Given the description of an element on the screen output the (x, y) to click on. 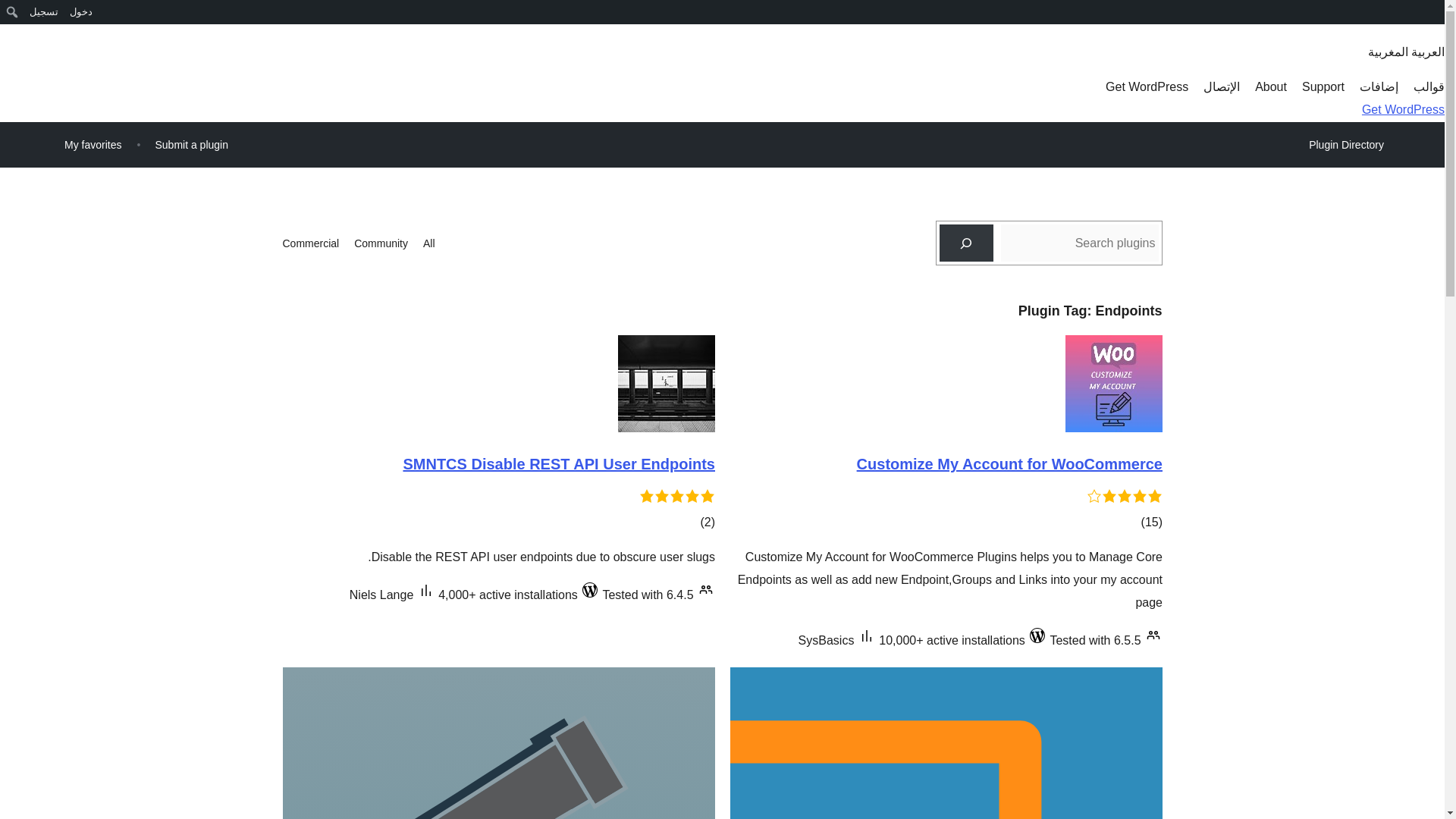
Support (1322, 87)
SMNTCS Disable REST API User Endpoints (558, 463)
Get WordPress (1146, 87)
Customize My Account for WooCommerce (1008, 463)
Commercial (310, 243)
Submit a plugin (191, 144)
My favorites (93, 144)
Community (380, 243)
About (1271, 87)
Plugin Directory (1345, 144)
